Given the description of an element on the screen output the (x, y) to click on. 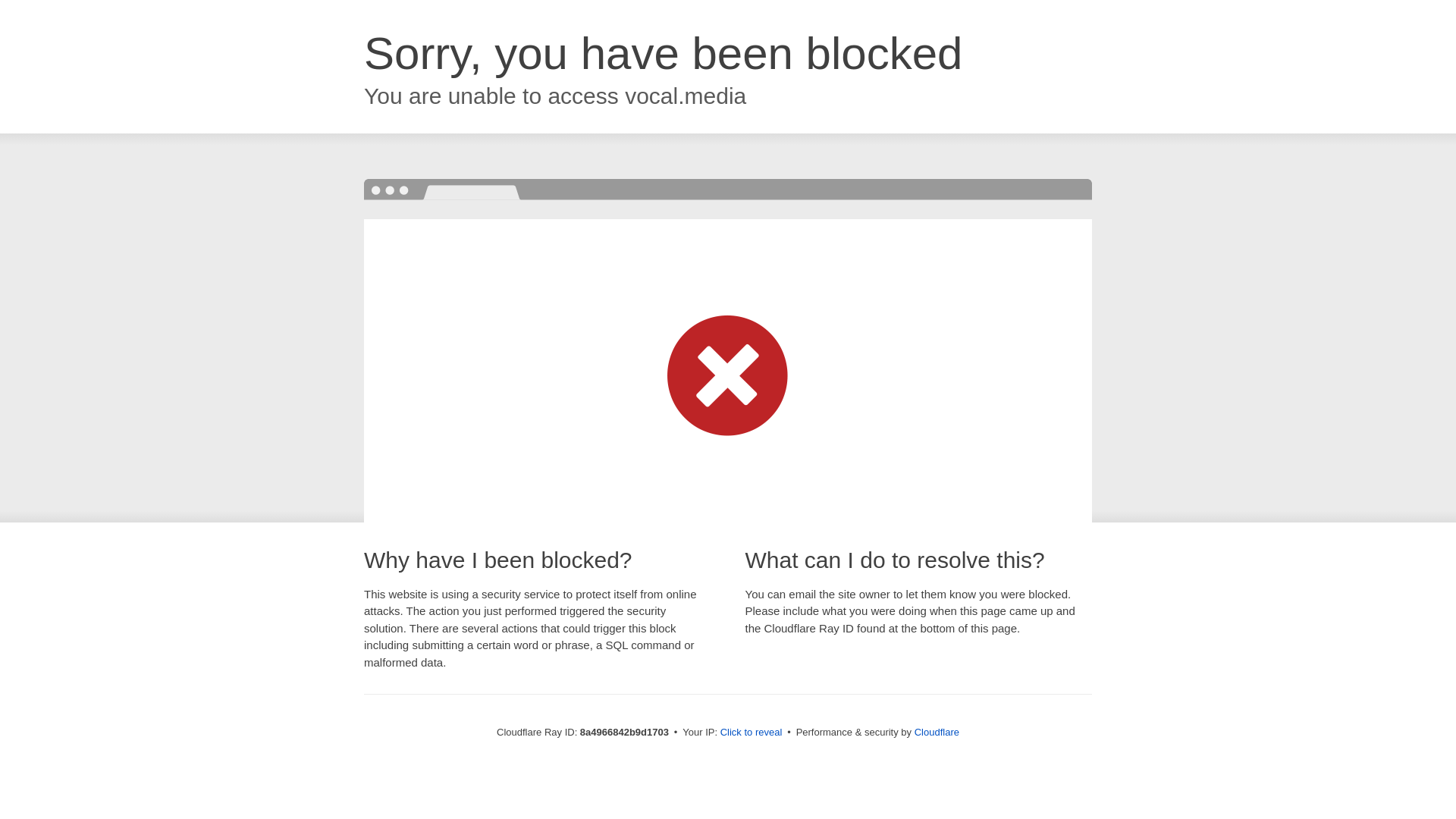
Click to reveal (751, 732)
Cloudflare (936, 731)
